Given the description of an element on the screen output the (x, y) to click on. 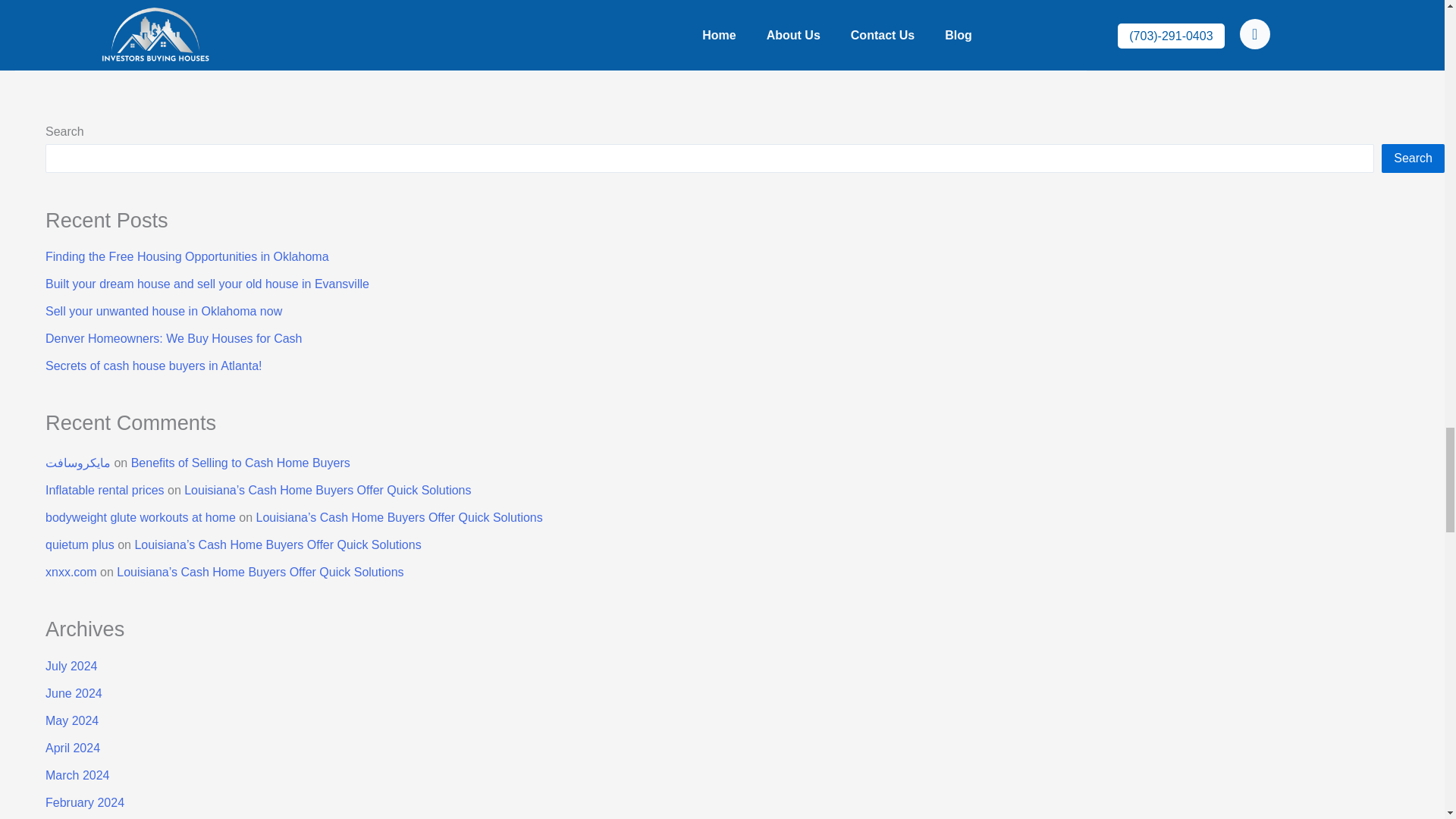
Built your dream house and sell your old house in Evansville (207, 283)
Benefits of Selling to Cash Home Buyers (240, 462)
Sell your unwanted house in Oklahoma now (163, 310)
Secrets of cash house buyers in Atlanta! (153, 365)
Finding the Free Housing Opportunities in Oklahoma (187, 256)
Denver Homeowners: We Buy Houses for Cash (173, 338)
Inflatable rental prices (104, 490)
